Given the description of an element on the screen output the (x, y) to click on. 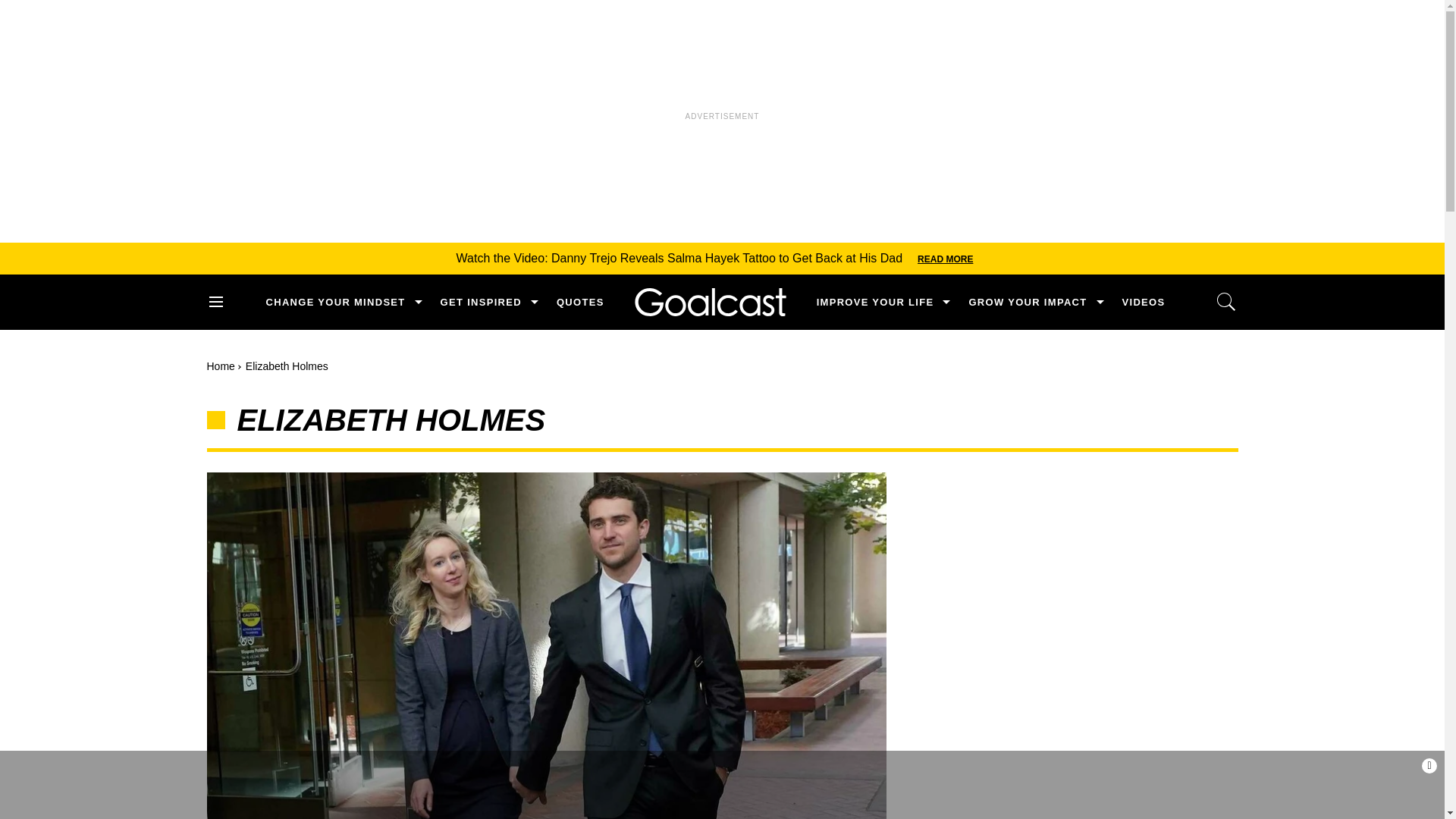
CHANGE YOUR MINDSET (334, 301)
GET INSPIRED (481, 301)
GROW YOUR IMPACT (1027, 301)
VIDEOS (1144, 301)
IMPROVE YOUR LIFE (875, 301)
QUOTES (580, 301)
